Given the description of an element on the screen output the (x, y) to click on. 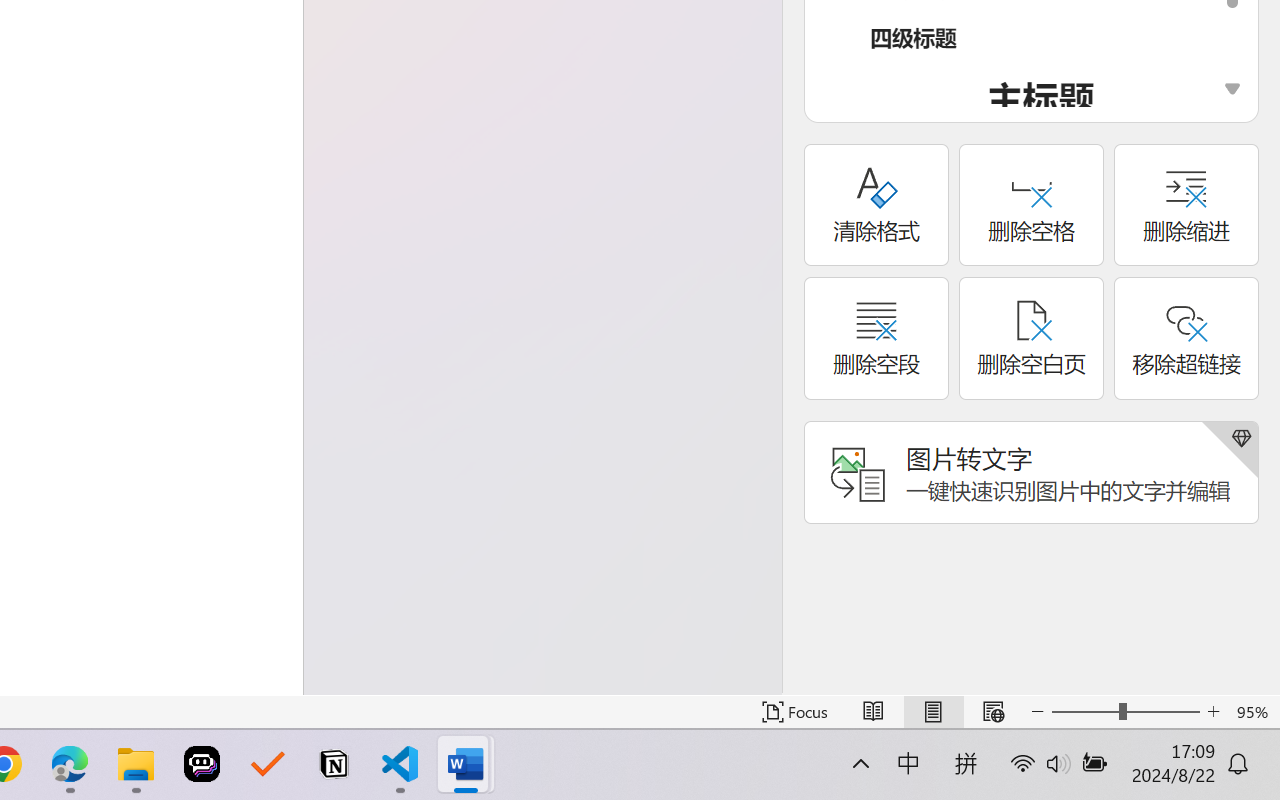
Zoom 95% (1253, 712)
